Given the description of an element on the screen output the (x, y) to click on. 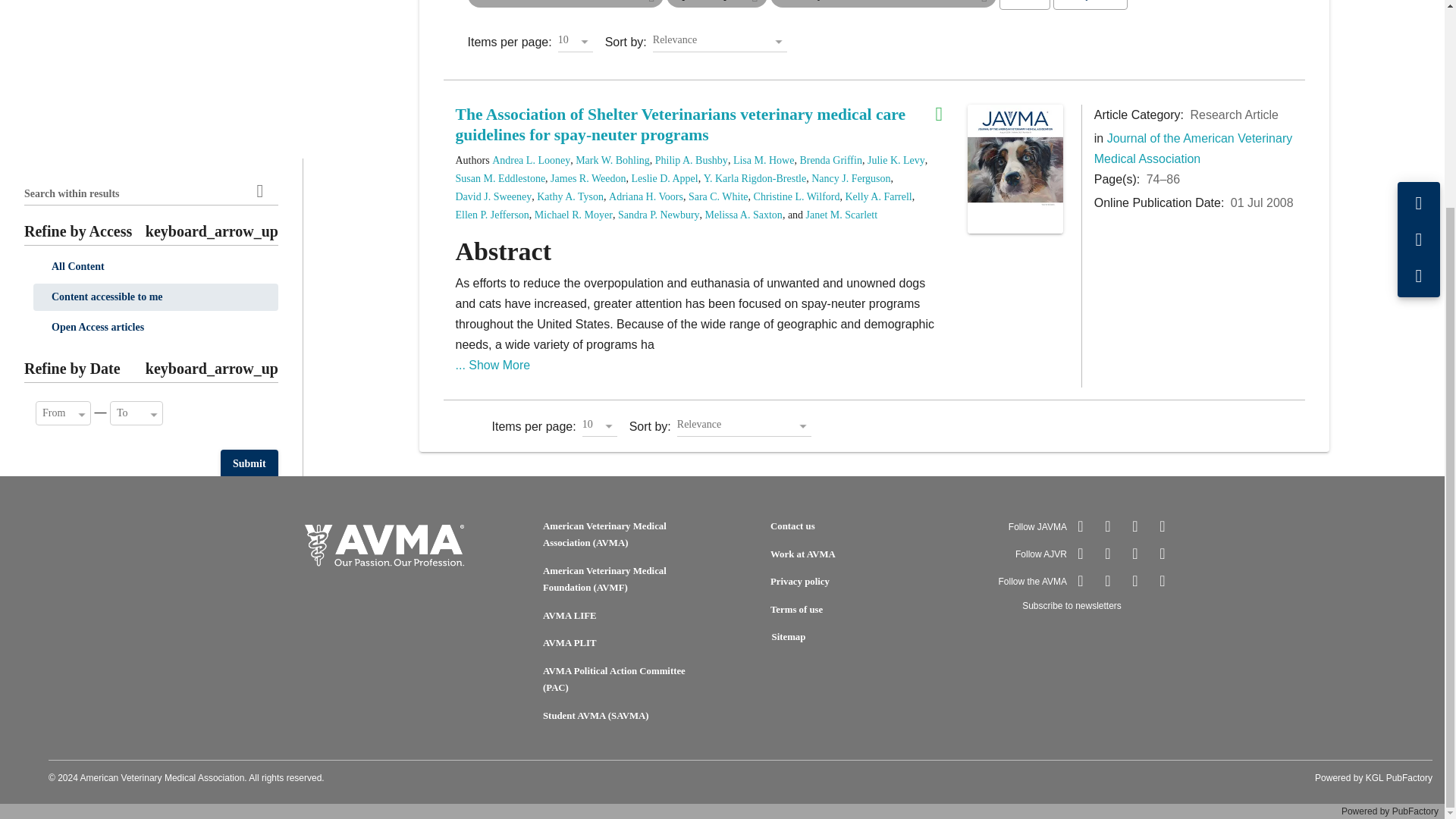
Submit (249, 195)
All Content (155, 6)
Share (1418, 13)
Open Access articles (155, 59)
Submit (249, 395)
Full access (945, 114)
